Given the description of an element on the screen output the (x, y) to click on. 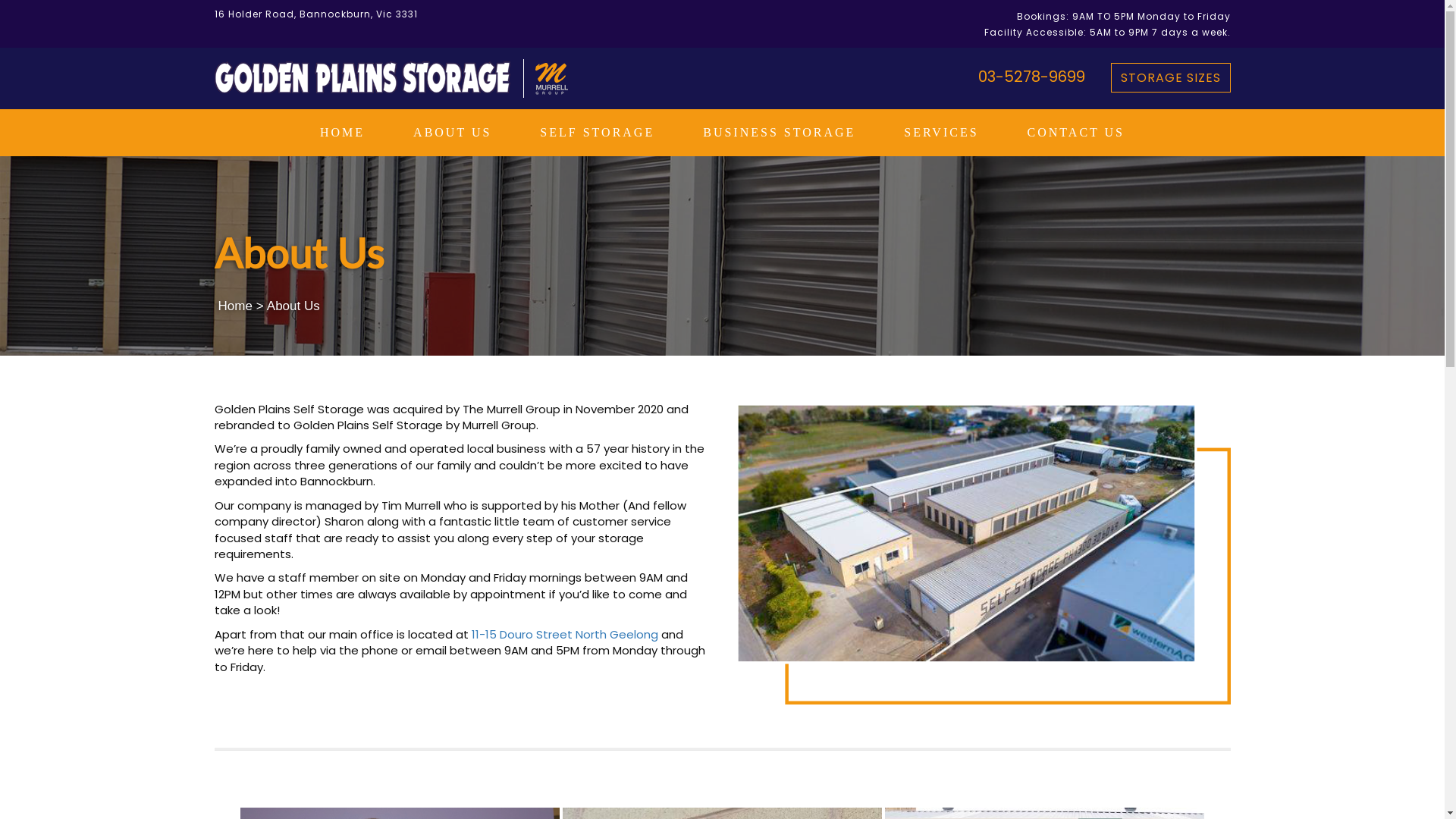
SELF STORAGE Element type: text (597, 132)
BUSINESS STORAGE Element type: text (779, 132)
SERVICES Element type: text (941, 132)
03-5278-9699 Element type: text (1029, 76)
Home Element type: text (235, 305)
HOME Element type: text (342, 132)
STORAGE SIZES Element type: text (1170, 77)
CONTACT US Element type: text (1075, 132)
ABOUT US Element type: text (452, 132)
11-15 Douro Street North Geelong Element type: text (564, 634)
16 Holder Road, Bannockburn, Vic 3331 Element type: text (315, 13)
